Given the description of an element on the screen output the (x, y) to click on. 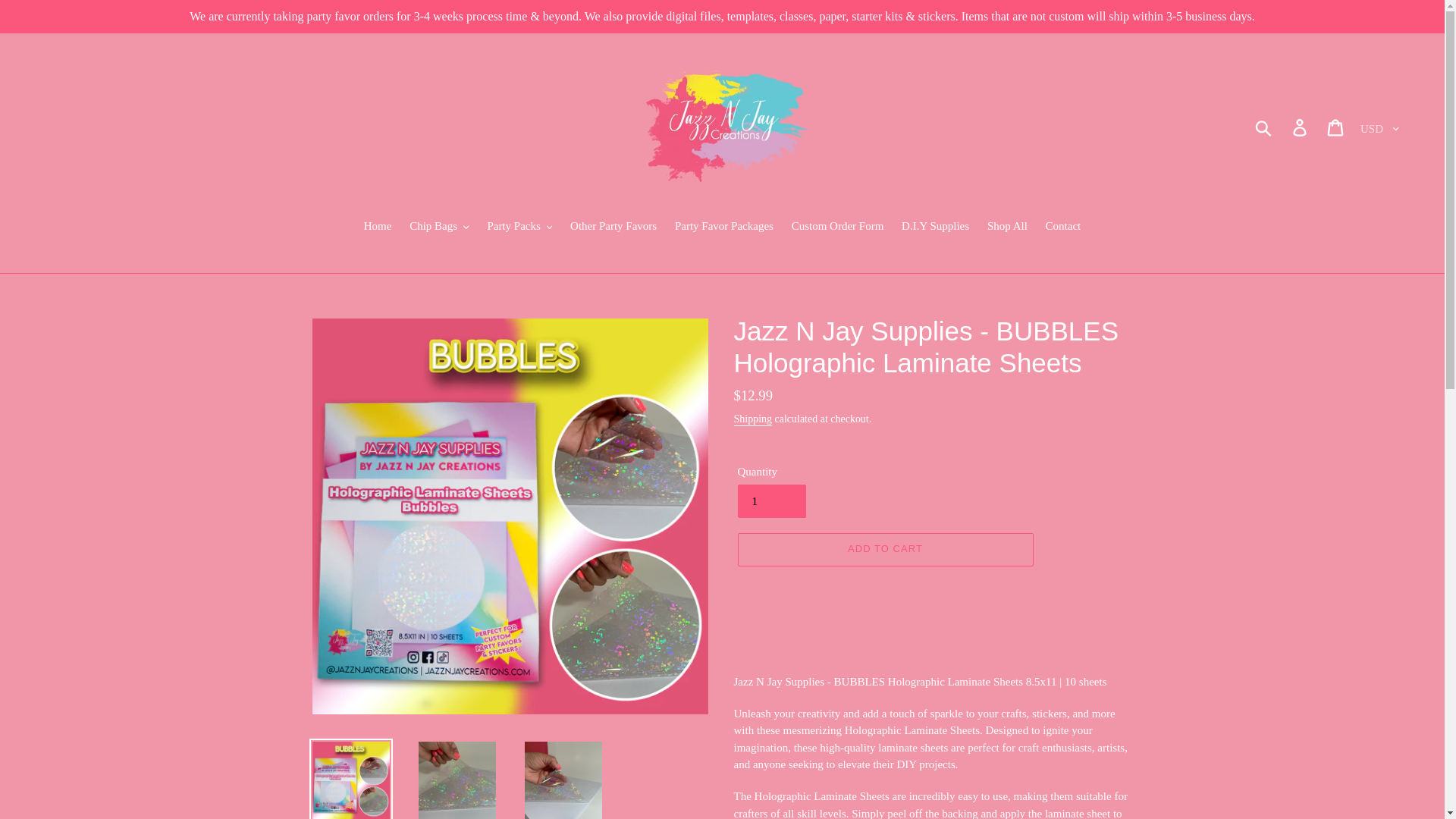
Home (377, 227)
Submit (1264, 127)
1 (770, 500)
Log in (1300, 127)
Cart (1336, 127)
